Given the description of an element on the screen output the (x, y) to click on. 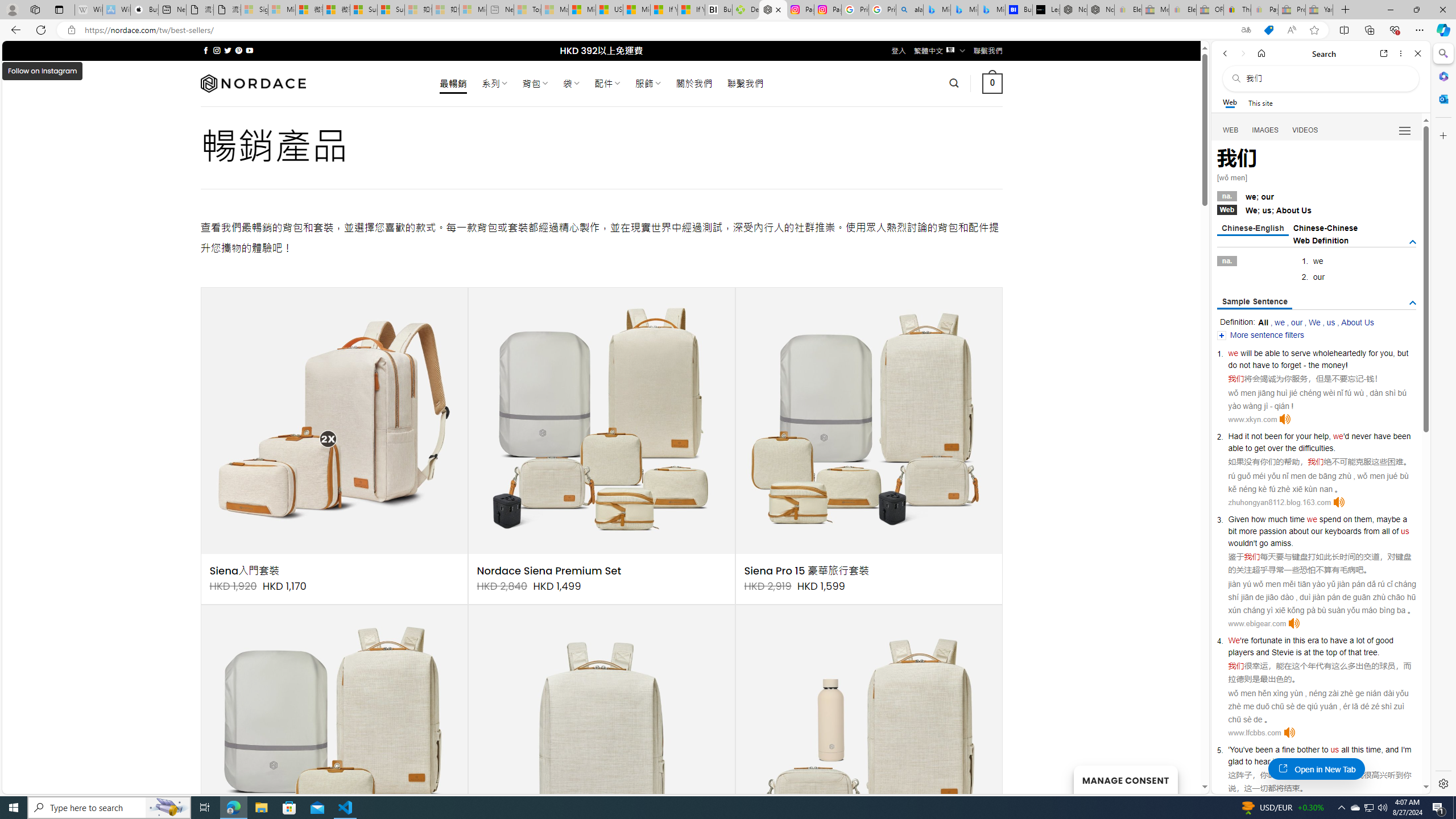
fortunate (1266, 640)
! (1346, 364)
www.xkyn.com (1251, 419)
zhuhongyan8112.blog.163.com (1278, 501)
in (1287, 640)
